Given the description of an element on the screen output the (x, y) to click on. 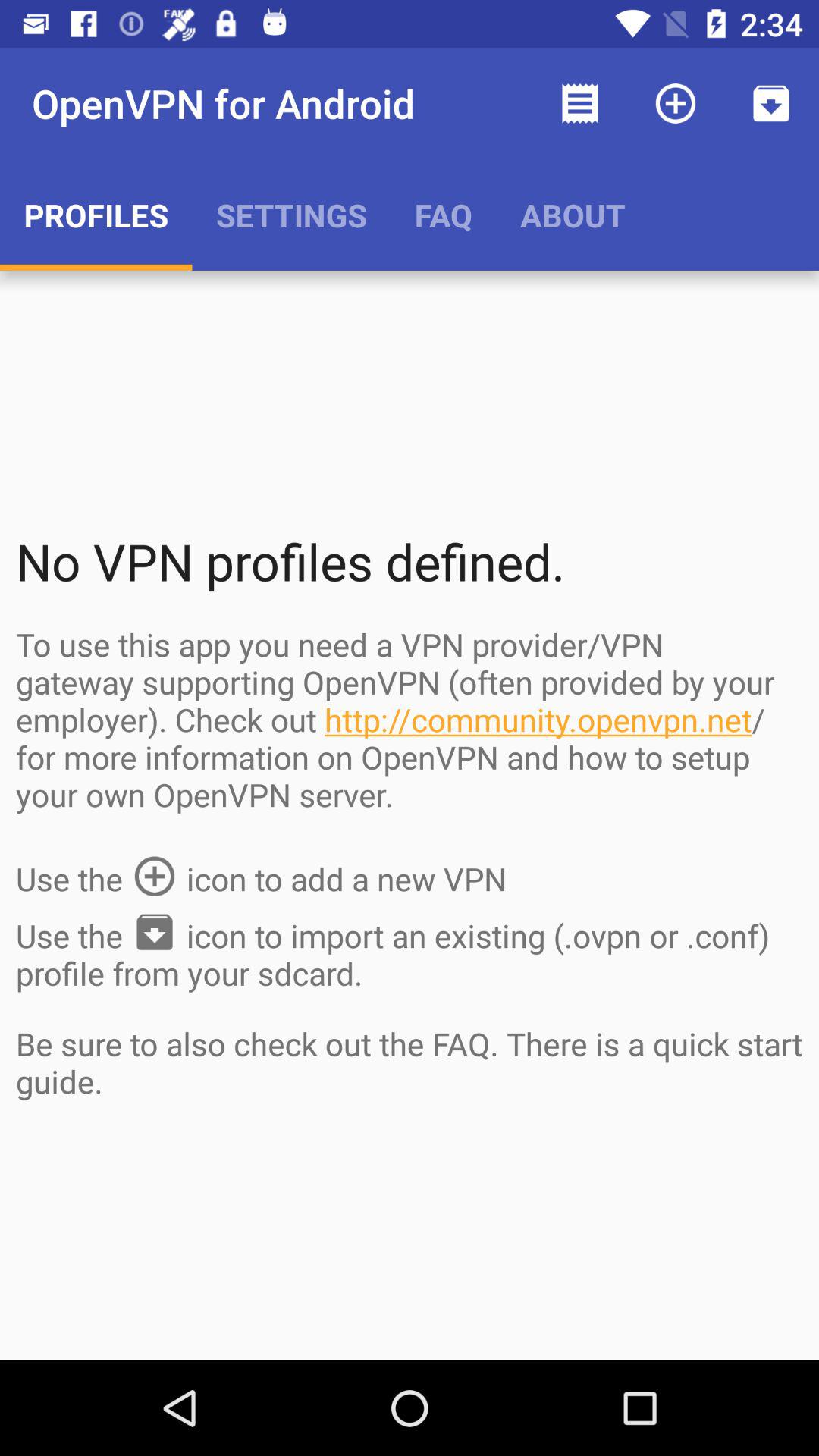
choose about icon (572, 214)
